Given the description of an element on the screen output the (x, y) to click on. 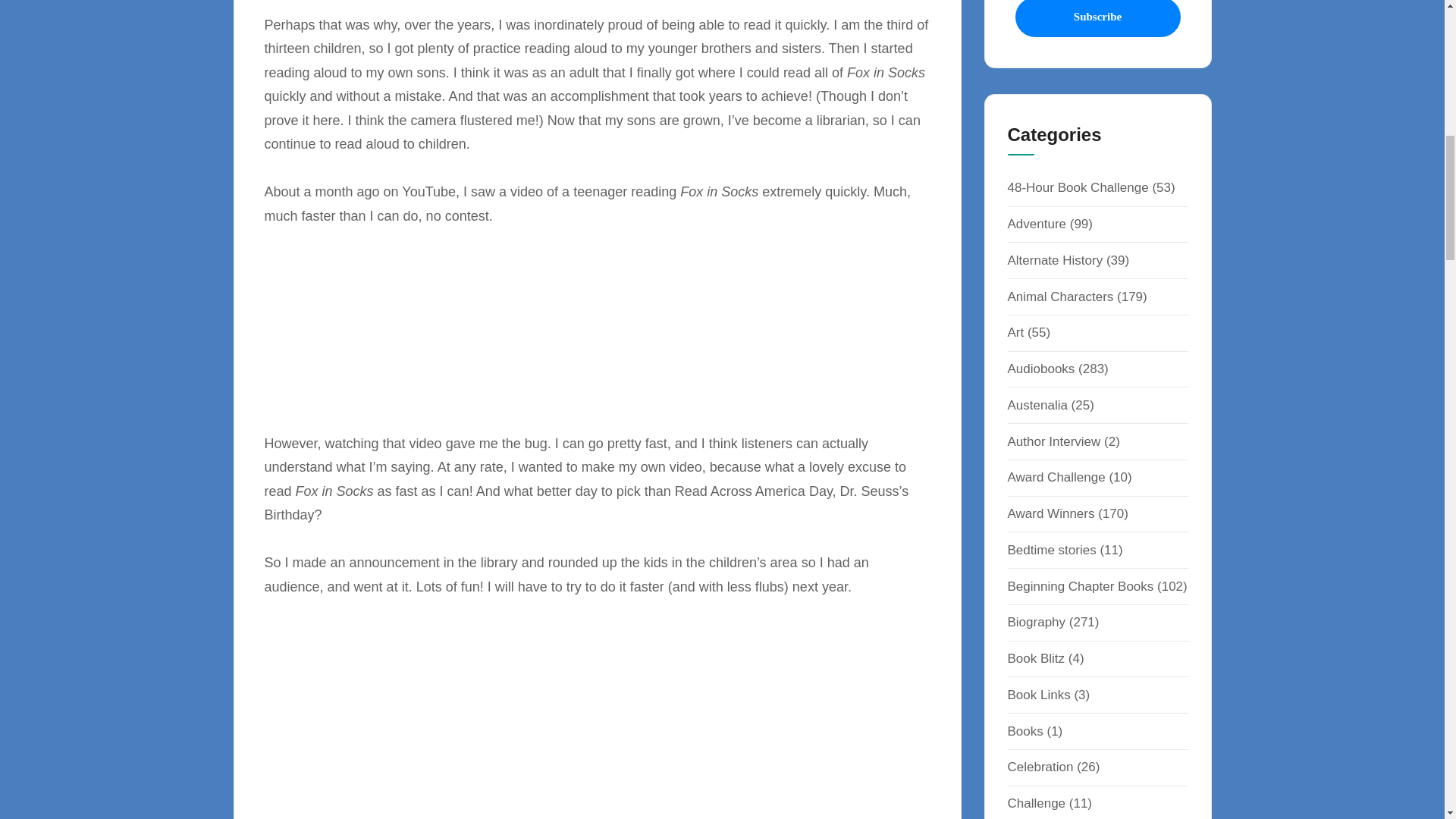
Book Blitz (1035, 658)
Award Winners (1050, 513)
Art (1015, 332)
48-Hour Book Challenge (1077, 187)
Adventure (1036, 223)
YouTube video player (384, 326)
Beginning Chapter Books (1080, 586)
Biography (1036, 622)
Audiobooks (1040, 368)
Author Interview (1053, 441)
YouTube video player (445, 721)
Subscribe (1096, 18)
Bedtime stories (1051, 549)
Alternate History (1054, 260)
Award Challenge (1056, 477)
